Given the description of an element on the screen output the (x, y) to click on. 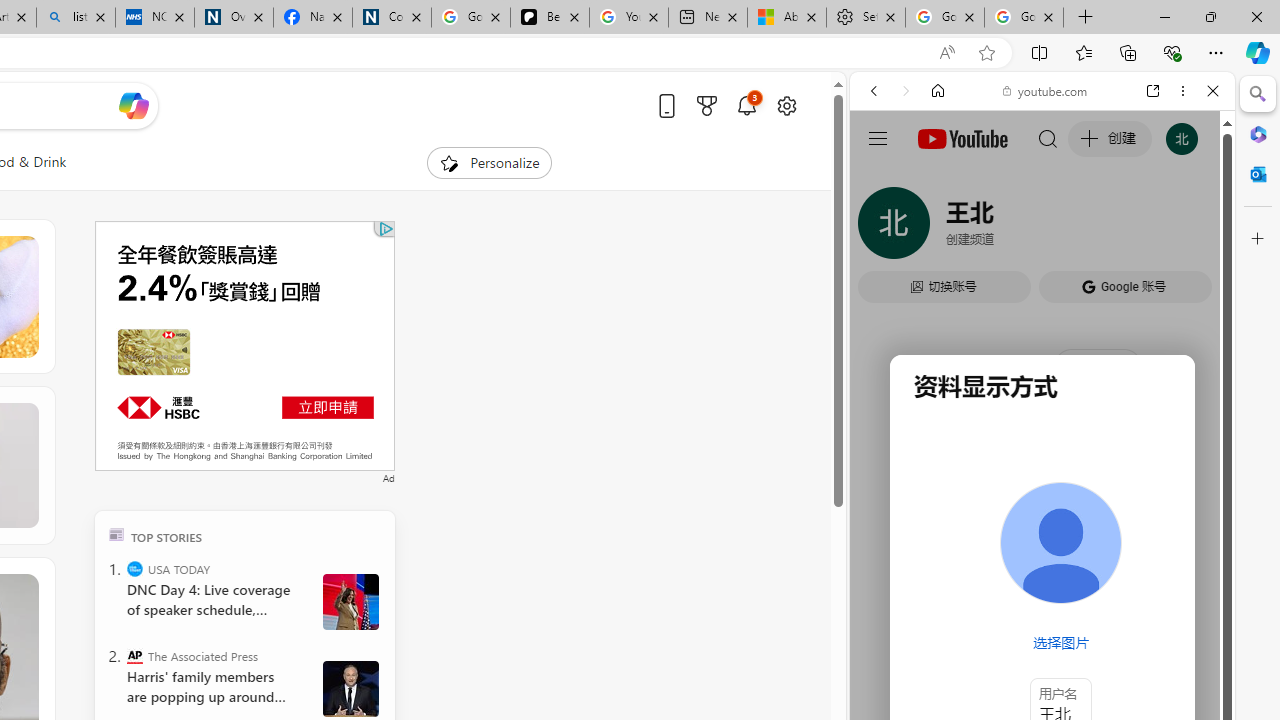
Open settings (786, 105)
Search Filter, VIDEOS (1006, 228)
Personalize (488, 162)
Class: b_serphb (1190, 229)
Trailer #2 [HD] (1042, 592)
Open link in new tab (1153, 91)
IMAGES (939, 228)
Show More Music (1164, 546)
TOP (116, 534)
Cookies (392, 17)
